Given the description of an element on the screen output the (x, y) to click on. 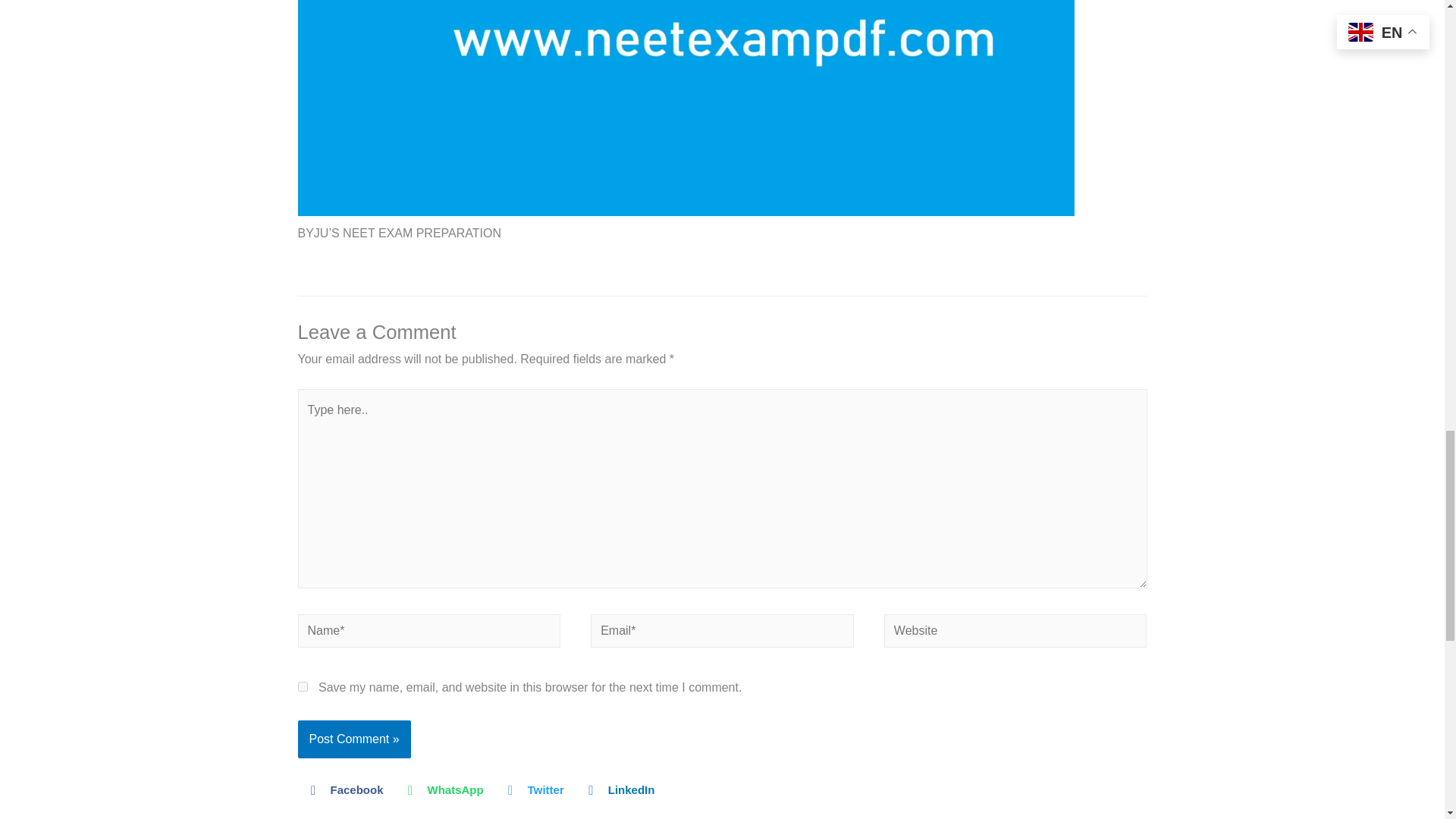
yes (302, 686)
